Given the description of an element on the screen output the (x, y) to click on. 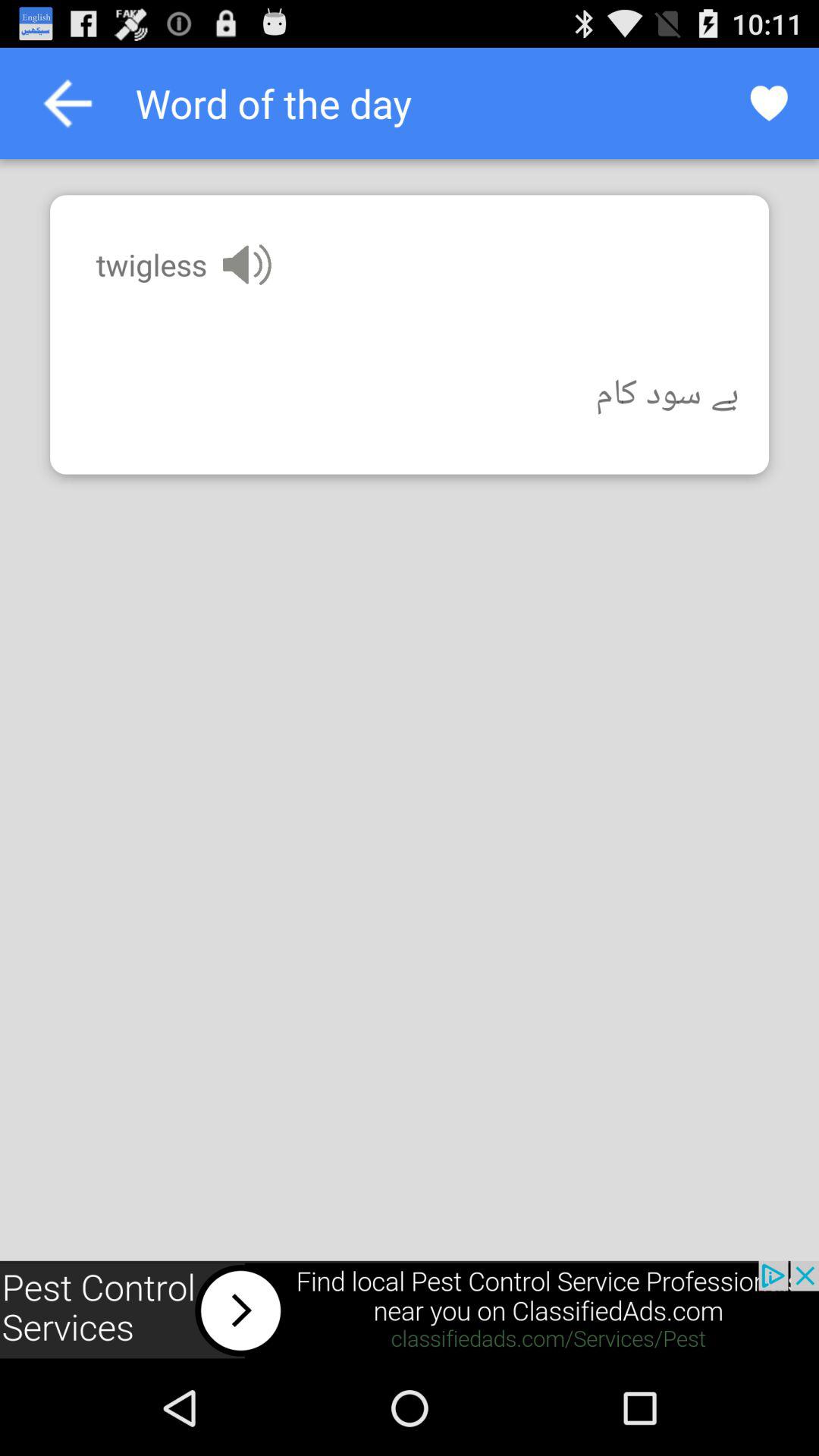
new advertisement open box (409, 1310)
